Given the description of an element on the screen output the (x, y) to click on. 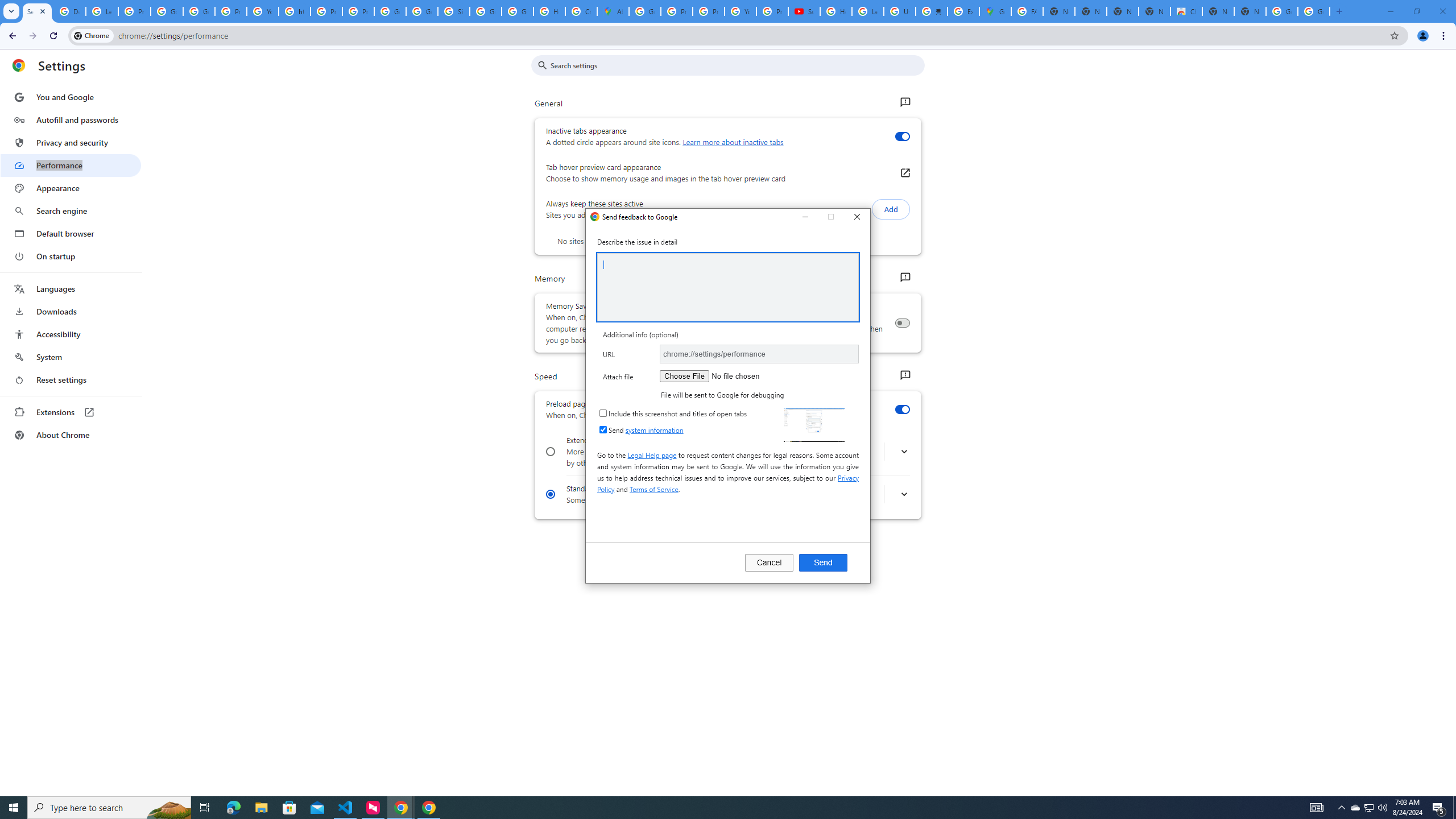
Google Images (1313, 11)
Privacy and security (70, 142)
About Chrome (70, 434)
Maximize (831, 217)
Speed (904, 375)
Google Images (1281, 11)
Languages (70, 288)
Visual Studio Code - 1 running window (345, 807)
